Given the description of an element on the screen output the (x, y) to click on. 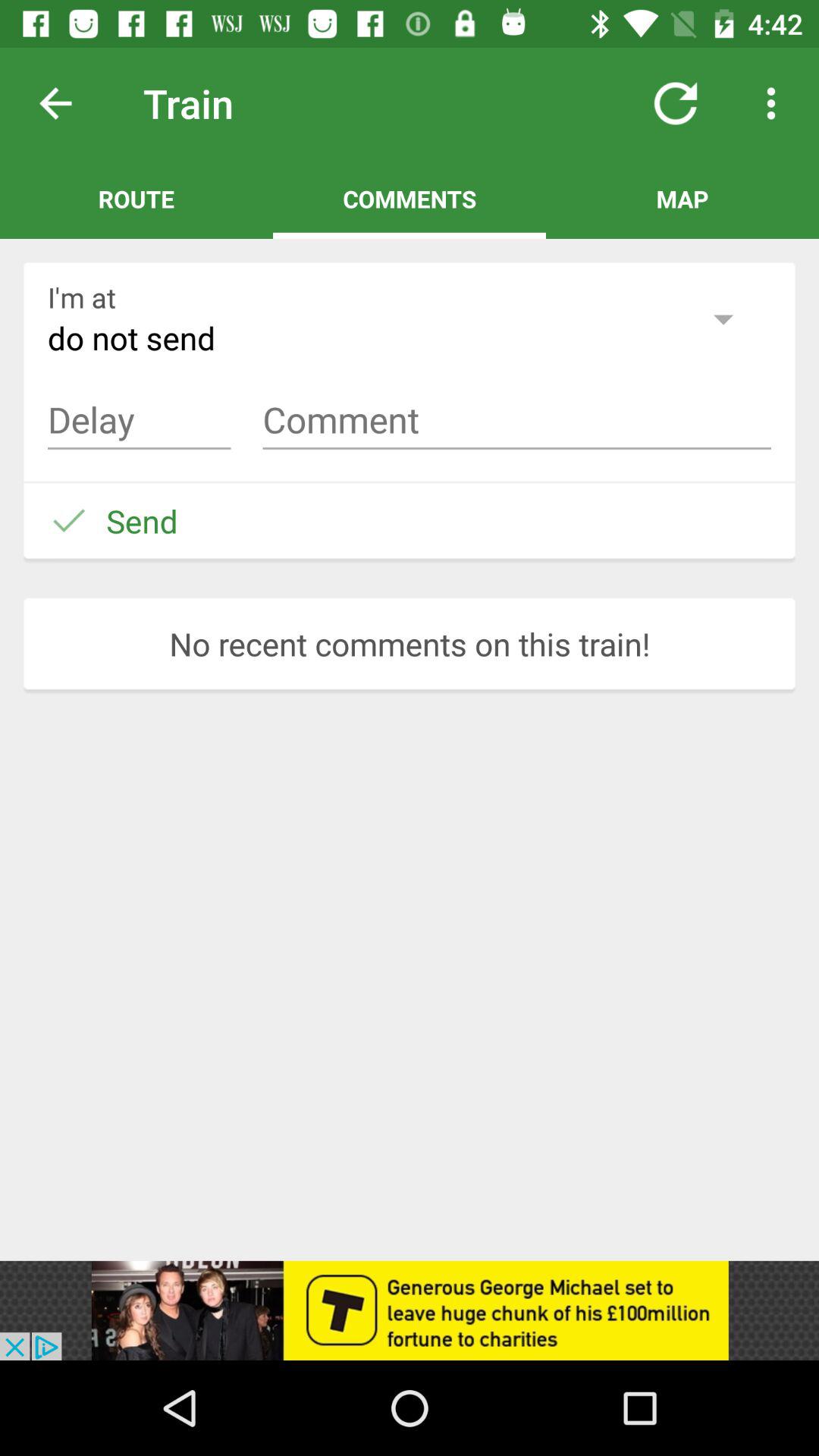
go back (67, 103)
